Given the description of an element on the screen output the (x, y) to click on. 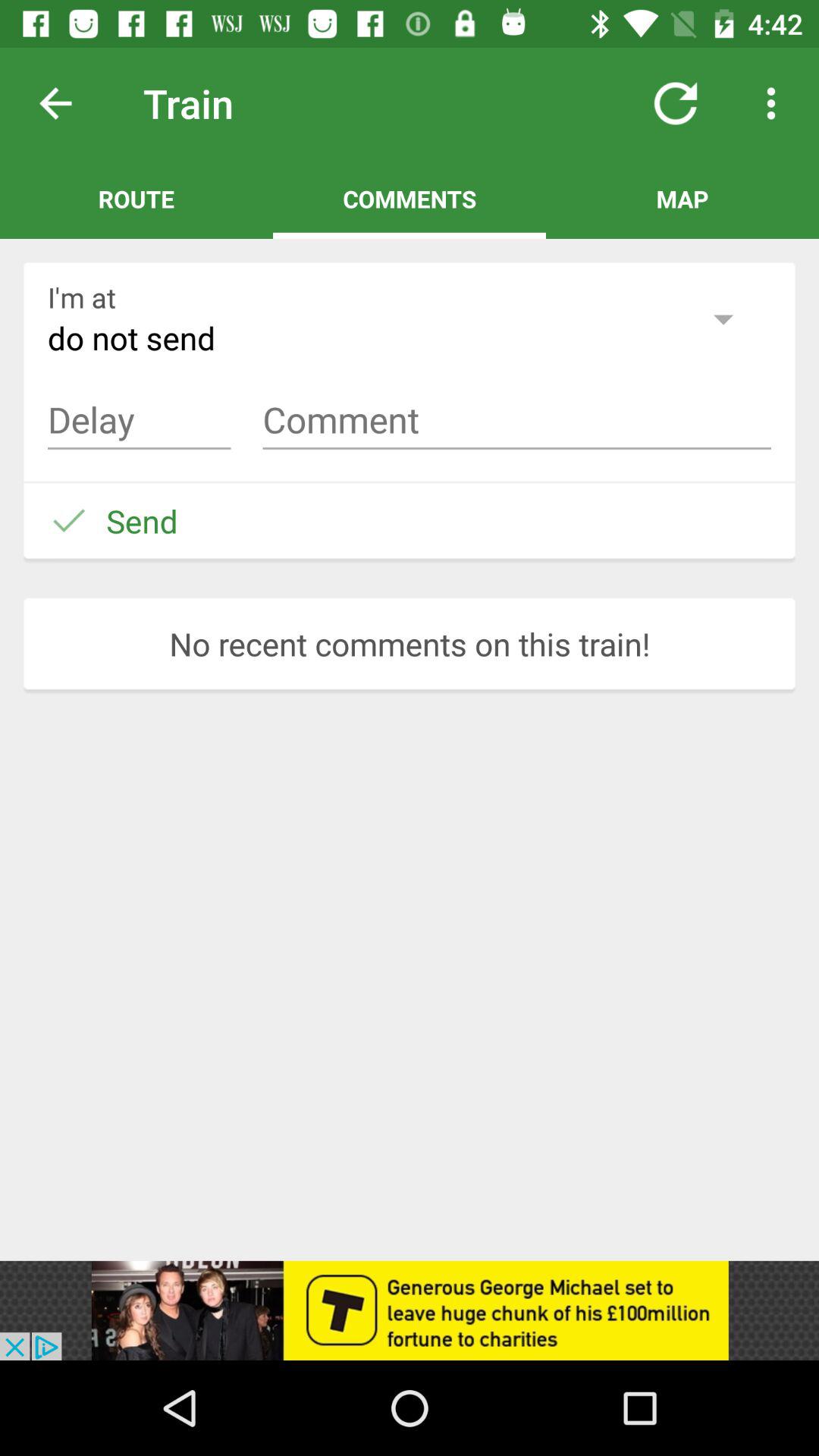
go back (67, 103)
